Given the description of an element on the screen output the (x, y) to click on. 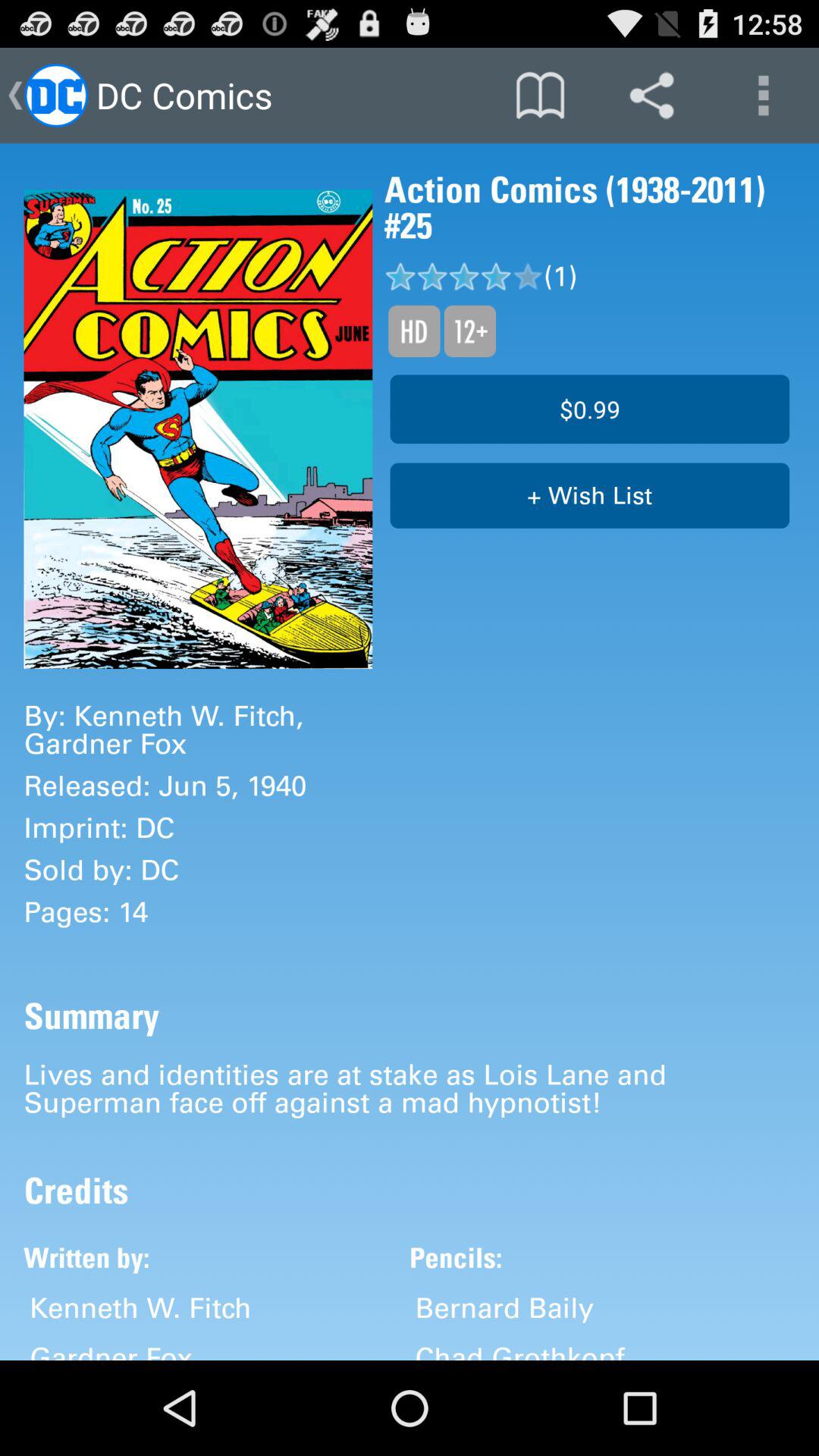
launch icon above the $0.99 icon (469, 331)
